Given the description of an element on the screen output the (x, y) to click on. 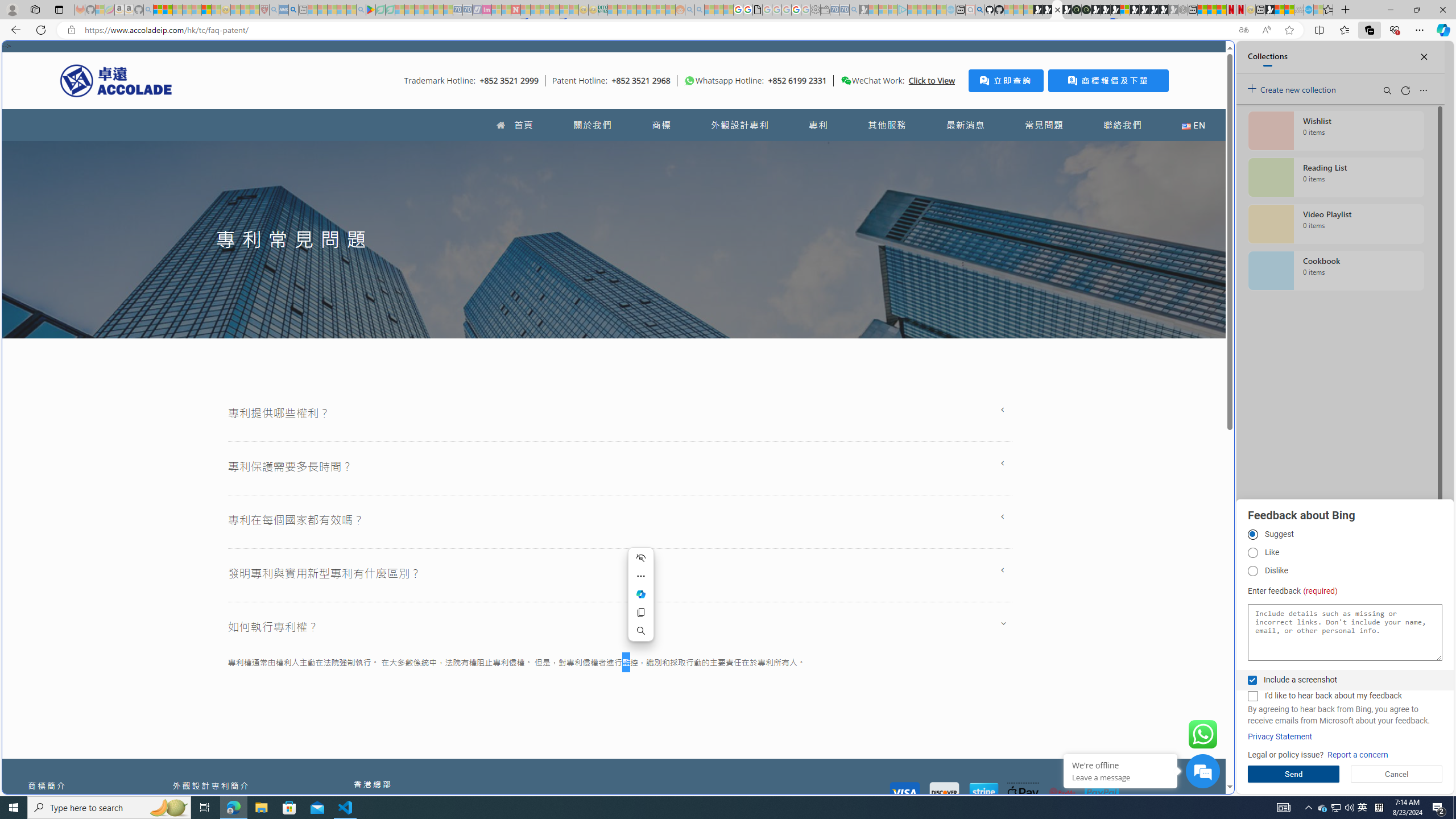
MSNBC - MSN - Sleeping (611, 9)
Cancel (1396, 773)
Pets - MSN - Sleeping (340, 9)
google - Search - Sleeping (360, 9)
Robert H. Shmerling, MD - Harvard Health - Sleeping (263, 9)
Navy Quest (1299, 9)
